Given the description of an element on the screen output the (x, y) to click on. 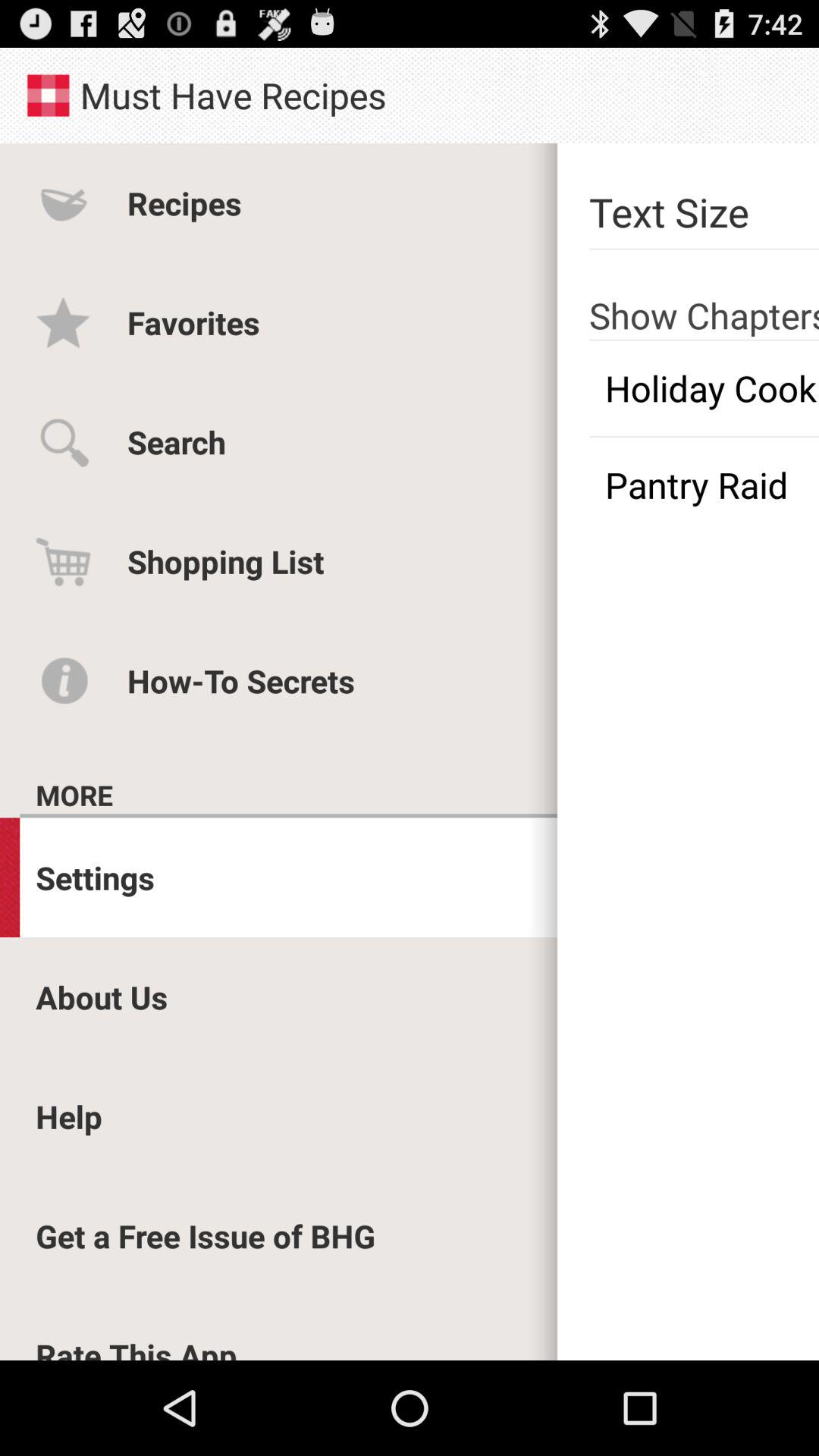
scroll until about us item (101, 996)
